Given the description of an element on the screen output the (x, y) to click on. 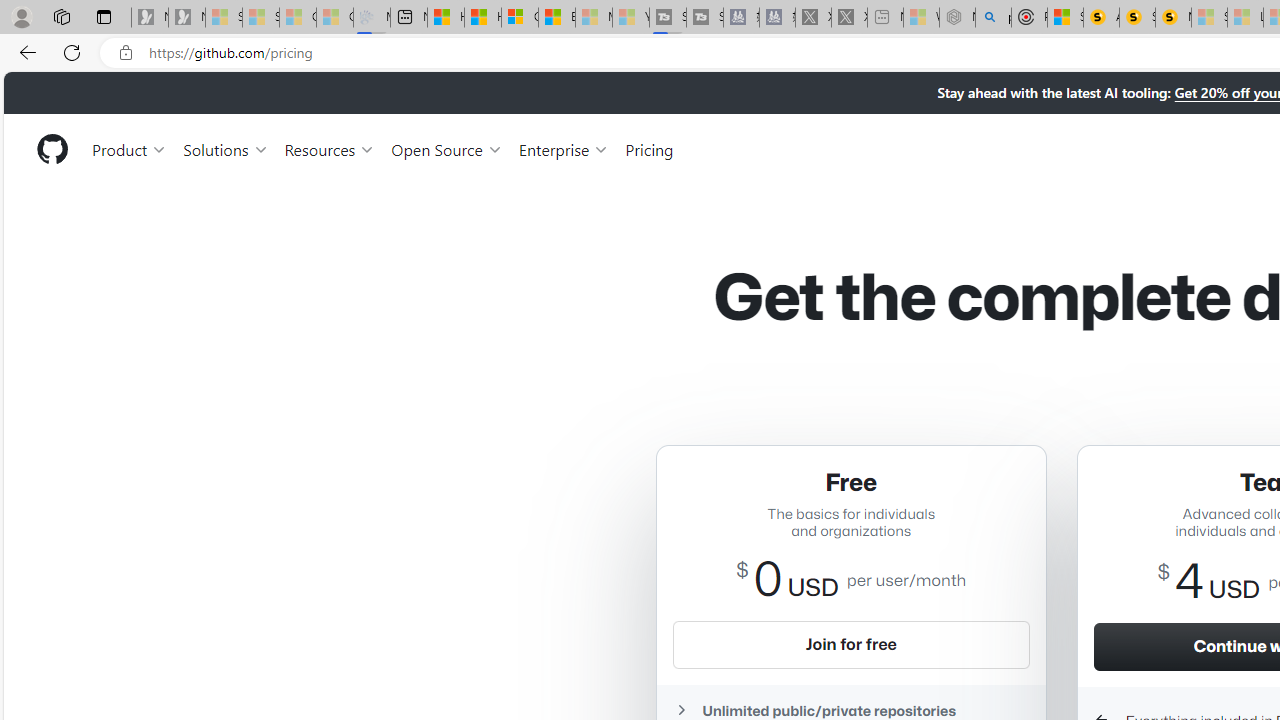
Resources (330, 148)
Product (130, 148)
Overview (519, 17)
Solutions (225, 148)
Enterprise (563, 148)
